Given the description of an element on the screen output the (x, y) to click on. 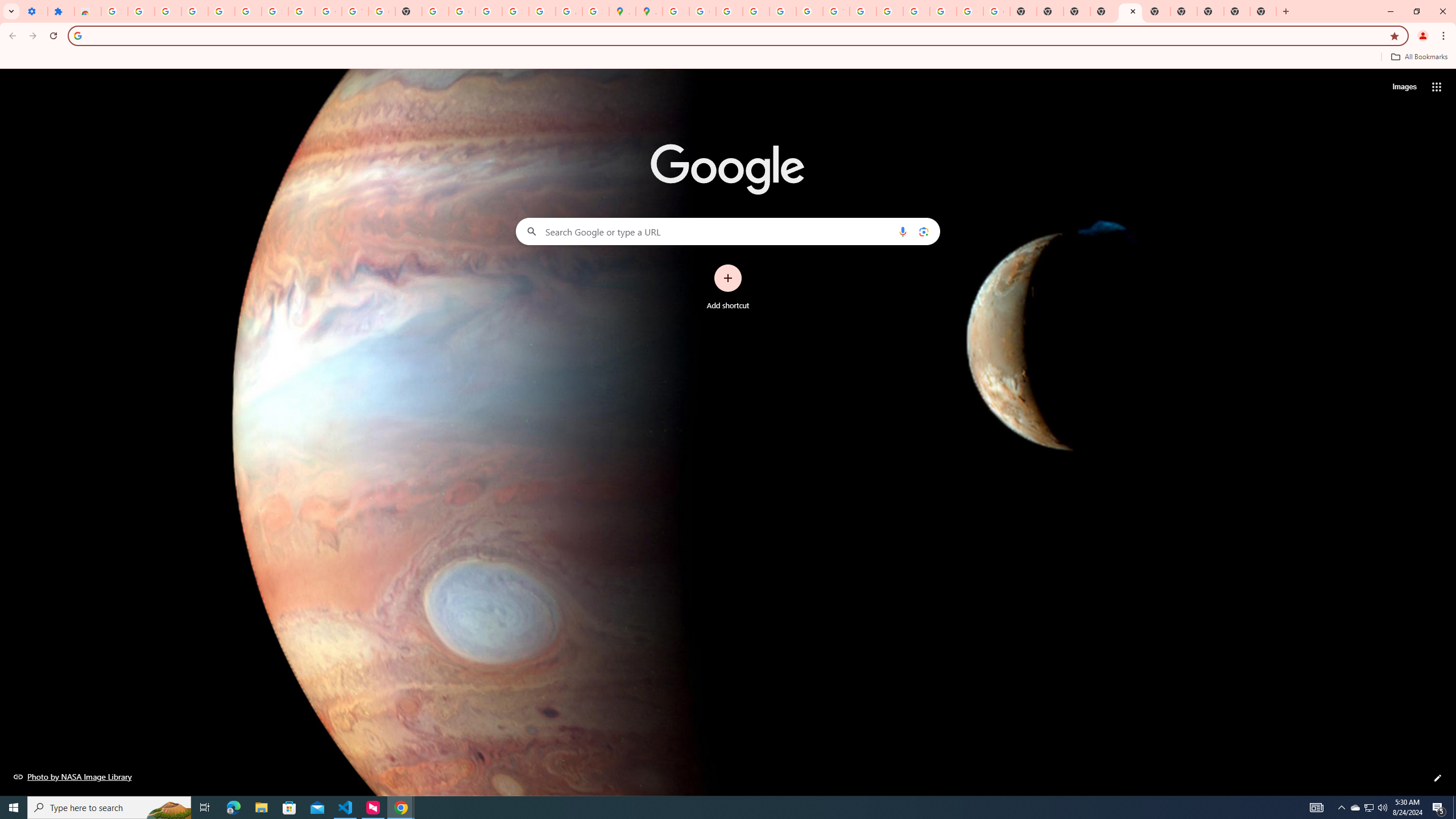
New Tab (1103, 11)
Search by voice (902, 230)
